Given the description of an element on the screen output the (x, y) to click on. 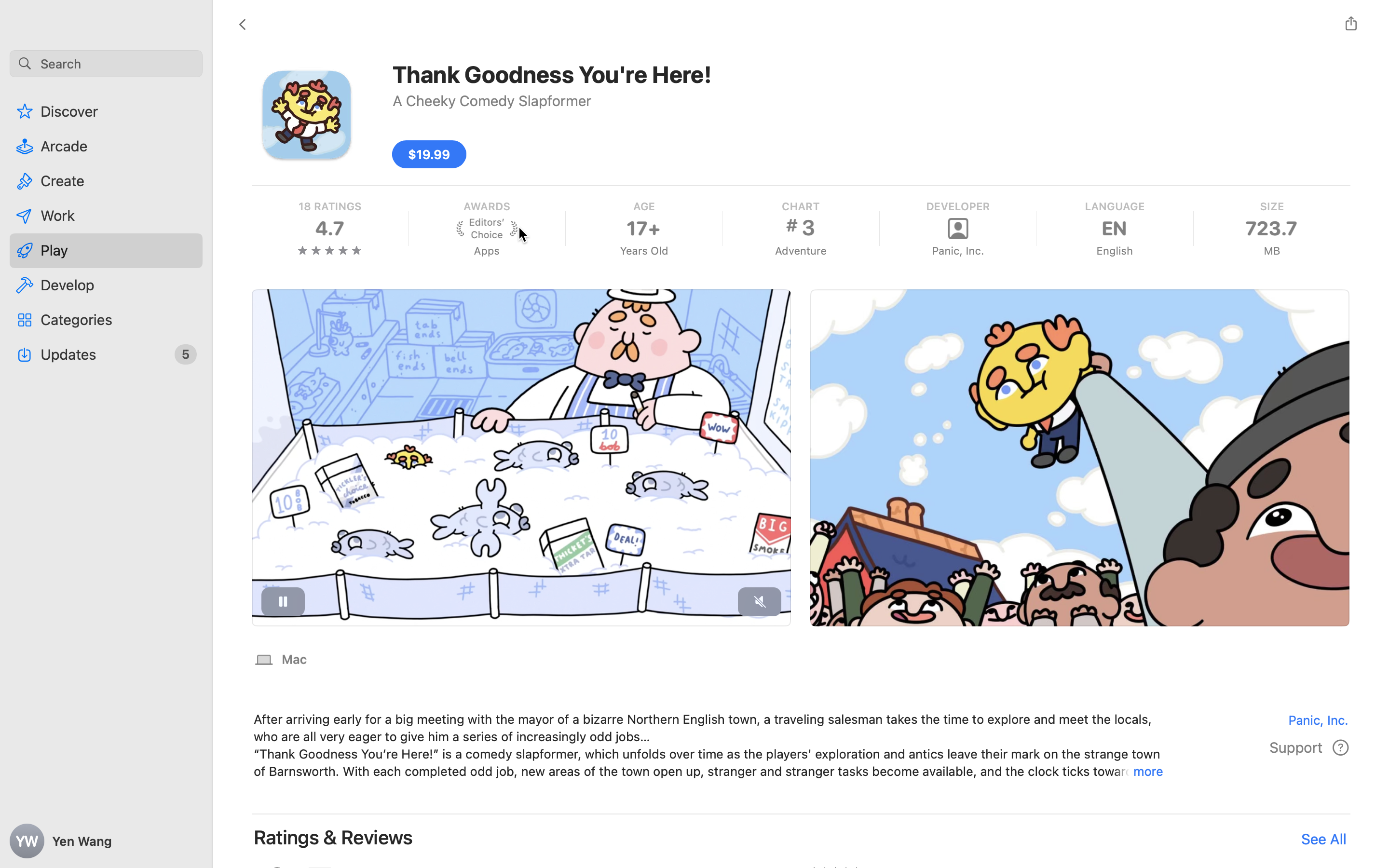
17+ Element type: AXStaticText (643, 228)
four and three quarters stars, 18 RATINGS, 4.7 Element type: AXStaticText (329, 228)
Years Old, AGE, 17+ Element type: AXStaticText (642, 228)
MB Element type: AXStaticText (1270, 250)
EN Element type: AXStaticText (1114, 228)
